Given the description of an element on the screen output the (x, y) to click on. 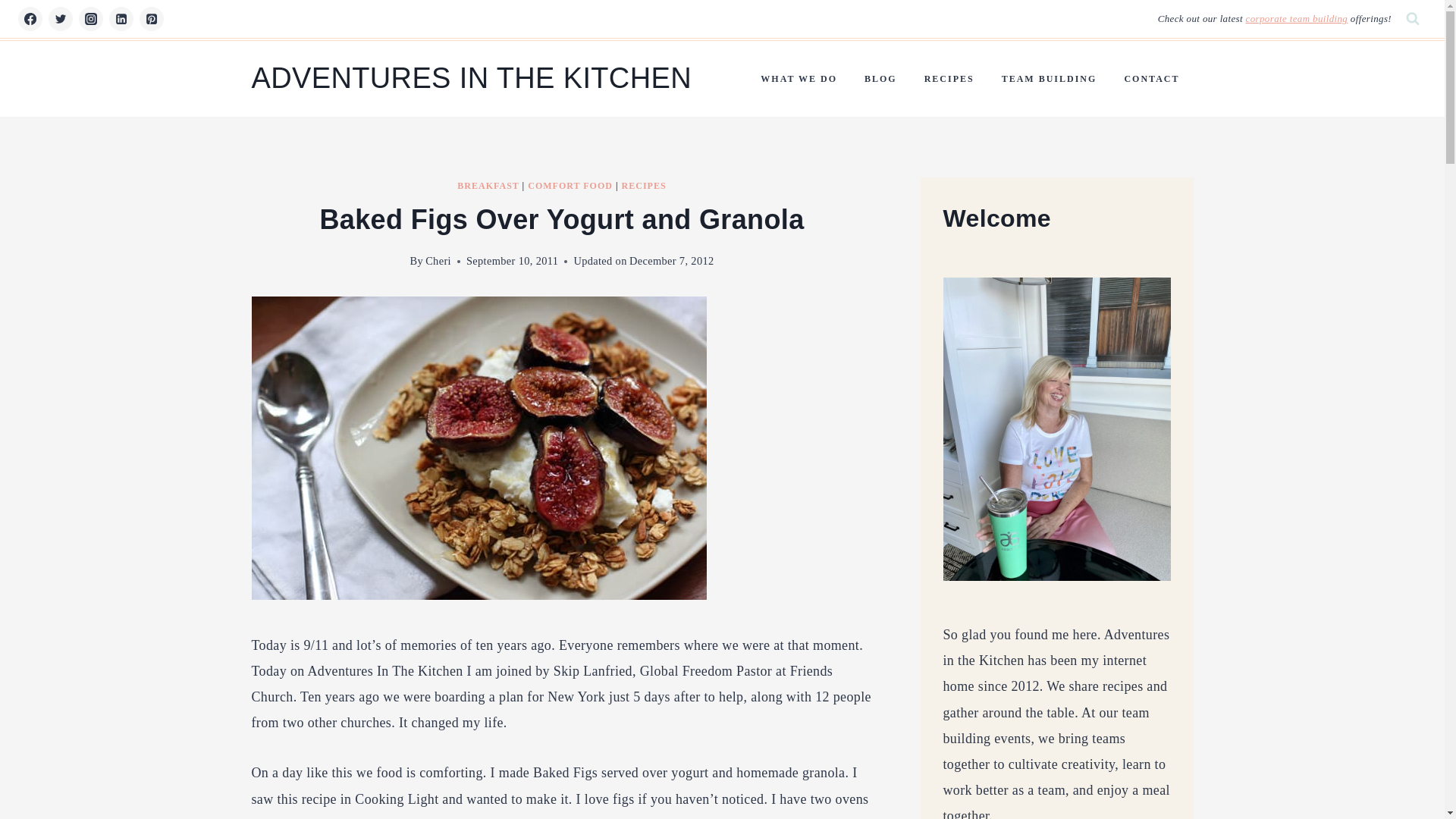
corporate team building (1297, 18)
CONTACT (1150, 79)
TEAM BUILDING (1049, 79)
COMFORT FOOD (569, 185)
WHAT WE DO (798, 79)
BLOG (880, 79)
RECIPES (949, 79)
RECIPES (643, 185)
BREAKFAST (487, 185)
